Given the description of an element on the screen output the (x, y) to click on. 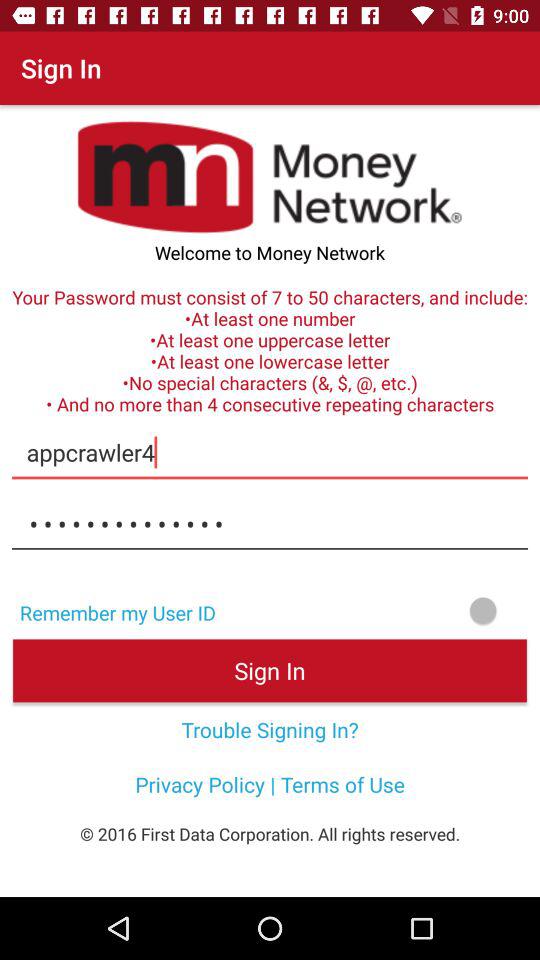
swipe until the privacy policy terms (270, 784)
